Given the description of an element on the screen output the (x, y) to click on. 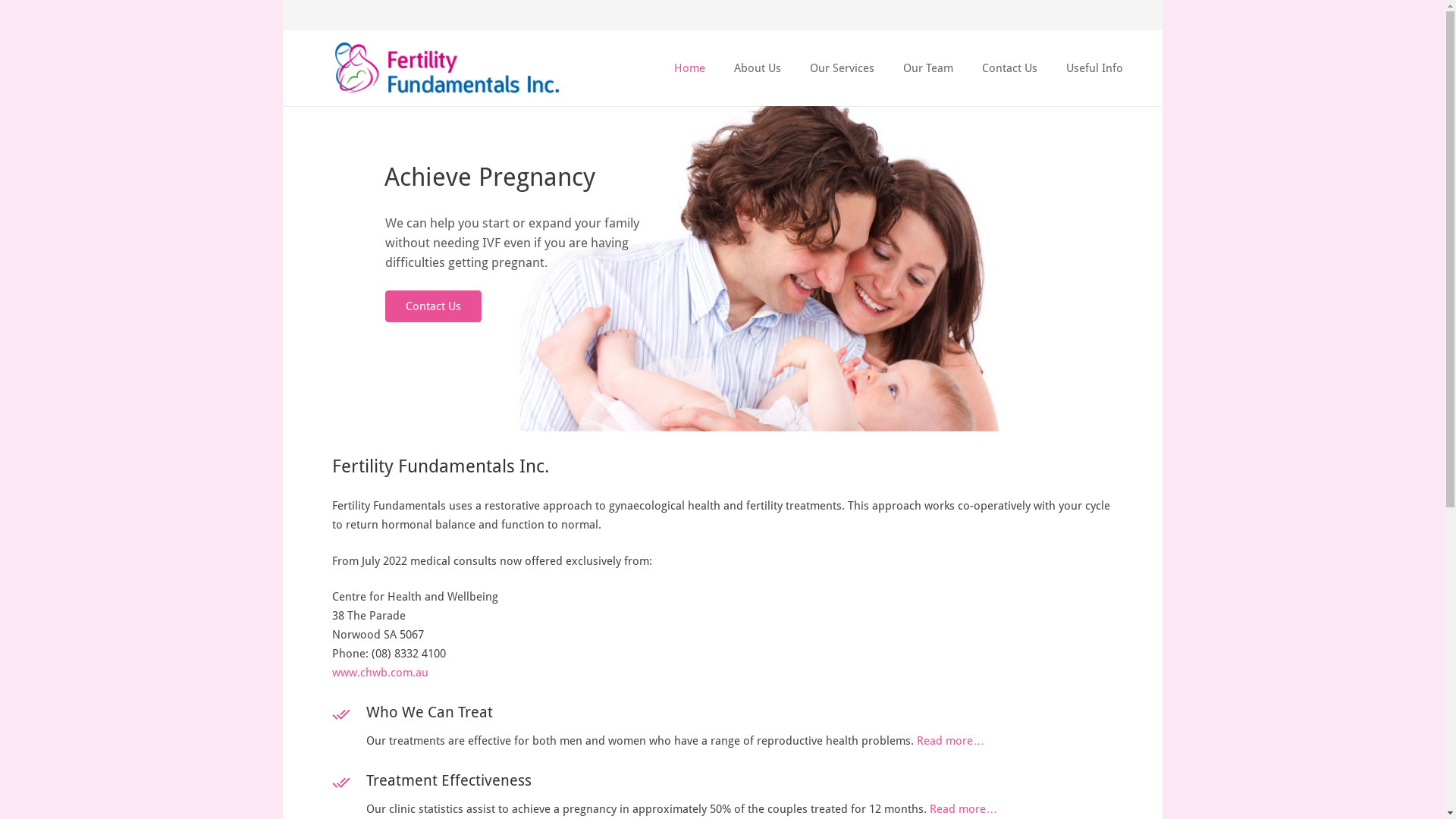
Home Element type: text (689, 68)
Contact Us Element type: text (1009, 68)
Our Team Element type: text (927, 68)
Contact Us Element type: text (433, 305)
Our Services Element type: text (841, 68)
About Us Element type: text (757, 68)
www.chwb.com.au Element type: text (380, 672)
Who We Can Treat Element type: text (739, 716)
Useful Info Element type: text (1094, 68)
done_all Element type: text (349, 727)
Treatment Effectiveness Element type: text (739, 785)
